Given the description of an element on the screen output the (x, y) to click on. 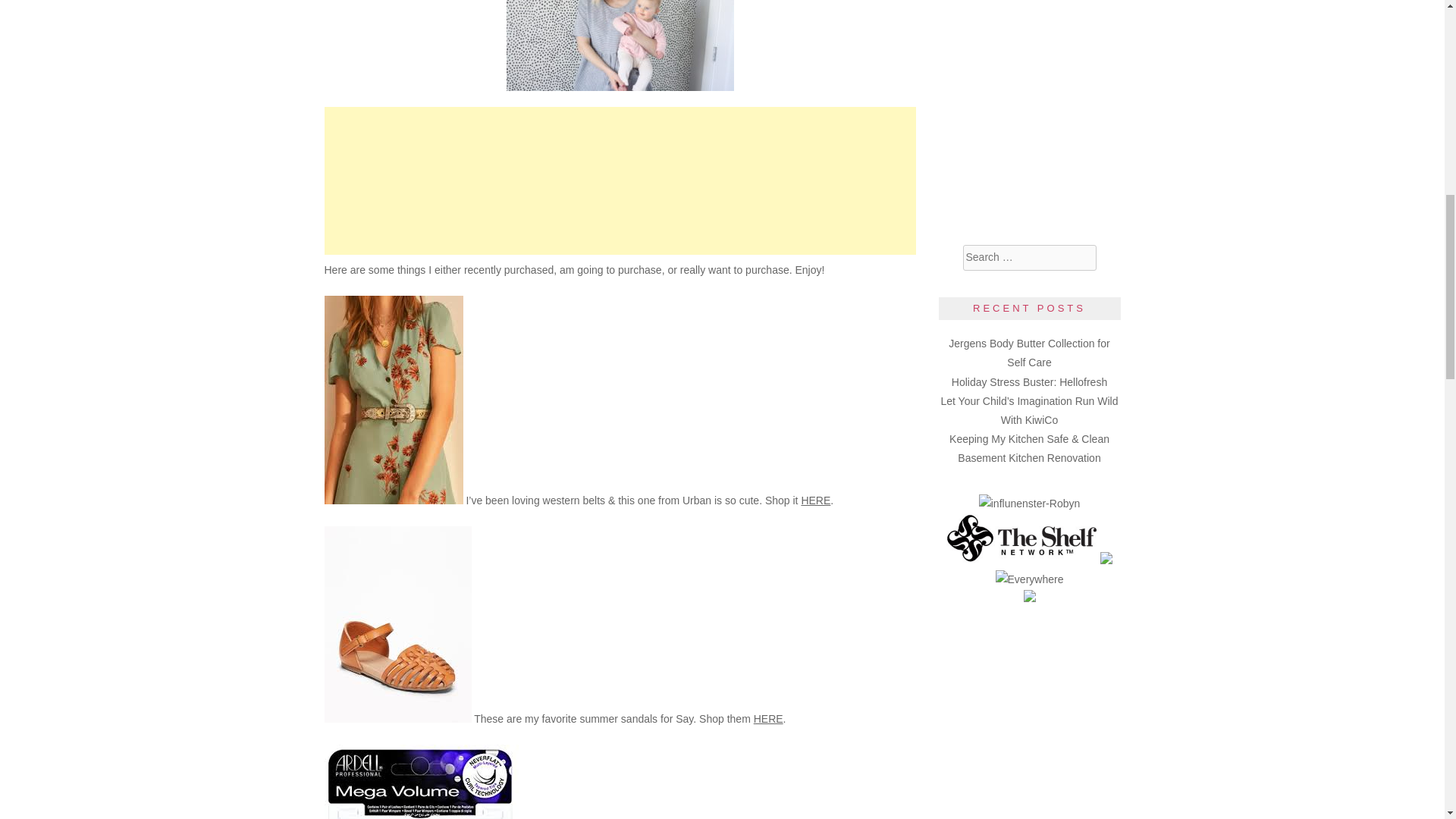
HERE (768, 718)
HERE (814, 500)
Jergens Body Butter Collection for Self Care (1029, 352)
Holiday Stress Buster: Hellofresh (1029, 381)
Advertisement (619, 180)
